Given the description of an element on the screen output the (x, y) to click on. 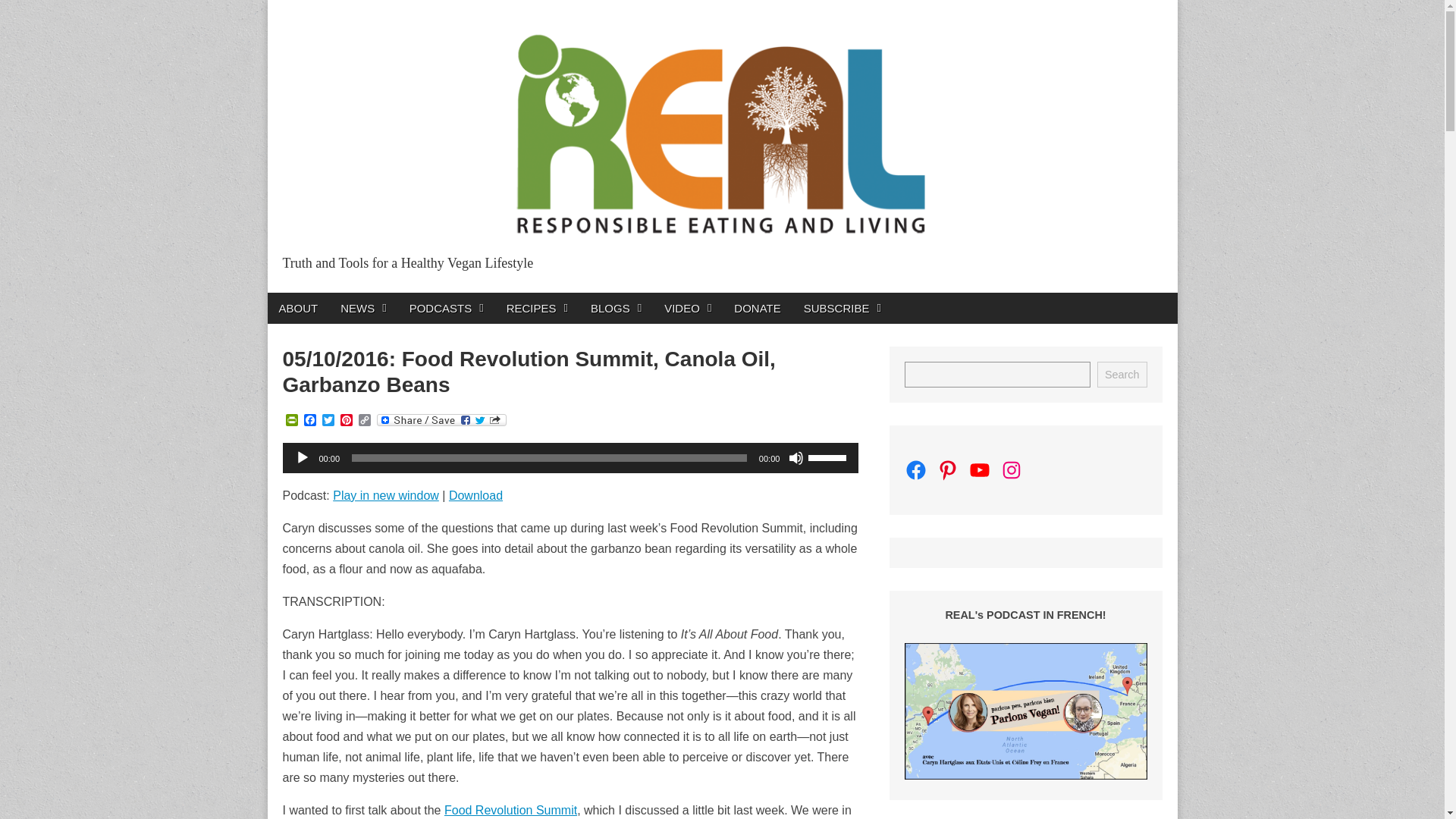
Twitter (327, 421)
Twitter (327, 421)
Facebook (308, 421)
DONATE (757, 307)
Play (301, 458)
Pinterest (345, 421)
SUBSCRIBE (842, 307)
PODCASTS (446, 307)
Mute (796, 458)
PrintFriendly (290, 421)
VIDEO (687, 307)
Copy Link (363, 421)
ABOUT (297, 307)
NEWS (363, 307)
